Given the description of an element on the screen output the (x, y) to click on. 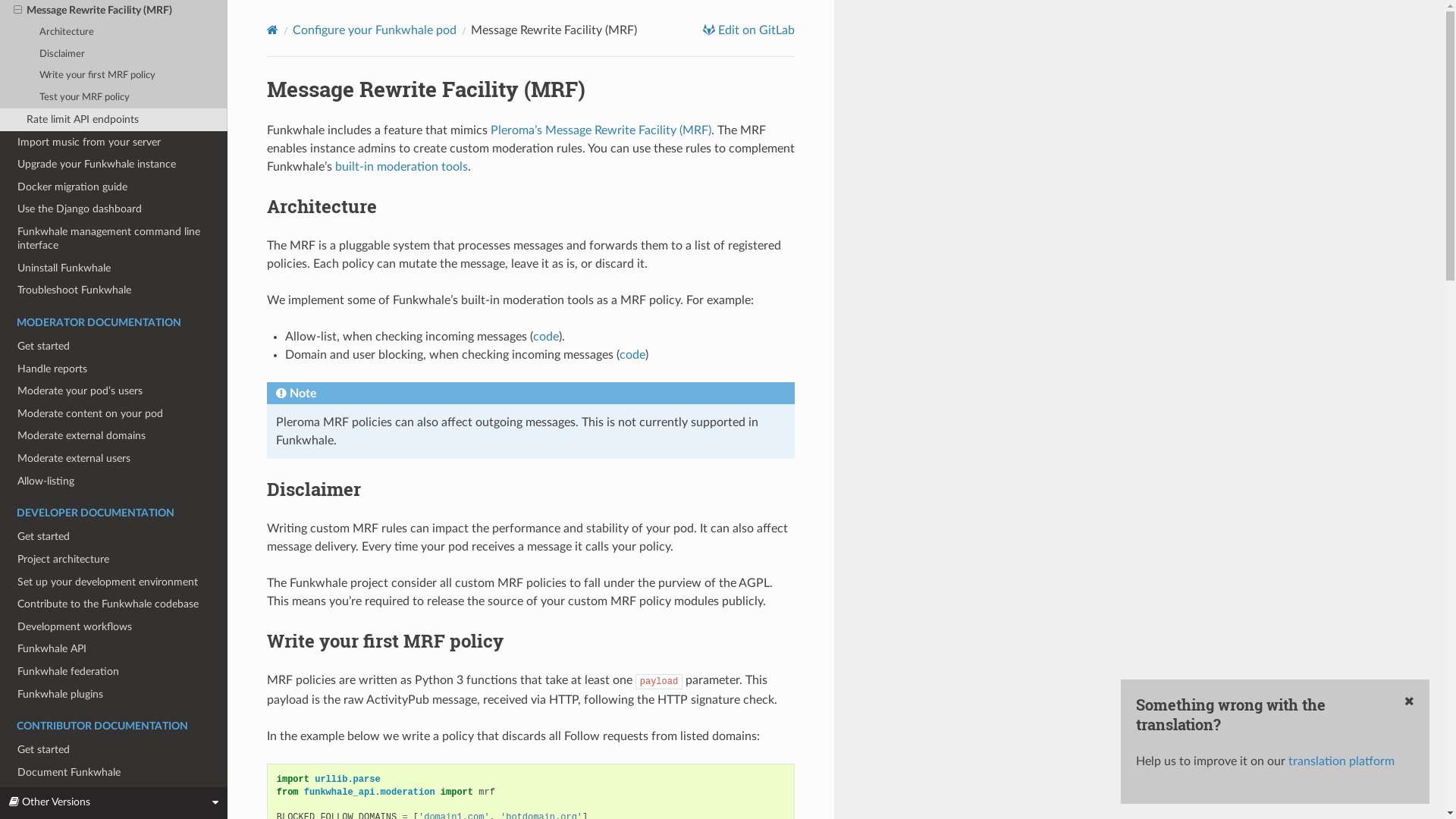
Write your first MRF policy Element type: text (113, 75)
Troubleshoot Funkwhale Element type: text (113, 290)
Rate limit API endpoints Element type: text (113, 119)
Development workflows Element type: text (113, 626)
Project architecture Element type: text (113, 559)
Get started Element type: text (113, 346)
Get started Element type: text (113, 536)
built-in moderation tools Element type: text (401, 166)
Funkwhale federation Element type: text (113, 671)
Architecture Element type: text (113, 32)
Moderate external users Element type: text (113, 458)
Funkwhale management command line interface Element type: text (113, 238)
Open/close menu Element type: hover (17, 10)
Allow-listing Element type: text (113, 481)
Uninstall Funkwhale Element type: text (113, 268)
code Element type: text (545, 336)
Message Rewrite Facility (MRF) Element type: text (113, 11)
Get started Element type: text (113, 749)
Upgrade your Funkwhale instance Element type: text (113, 164)
Moderate content on your pod Element type: text (113, 413)
Disclaimer Element type: text (113, 54)
Handle reports Element type: text (113, 368)
Translate Funkwhale Element type: text (113, 795)
Document Funkwhale Element type: text (113, 772)
Import music from your server Element type: text (113, 142)
Test your MRF policy Element type: text (113, 97)
Docker migration guide Element type: text (113, 186)
Set up your development environment Element type: text (113, 582)
Moderate external domains Element type: text (113, 436)
Funkwhale plugins Element type: text (113, 694)
Use the Django dashboard Element type: text (113, 209)
Contribute to the Funkwhale codebase Element type: text (113, 604)
Edit on GitLab Element type: text (748, 29)
Configure your Funkwhale pod Element type: text (374, 30)
code Element type: text (632, 354)
Funkwhale API Element type: text (113, 649)
translation platform Element type: text (1341, 761)
